Given the description of an element on the screen output the (x, y) to click on. 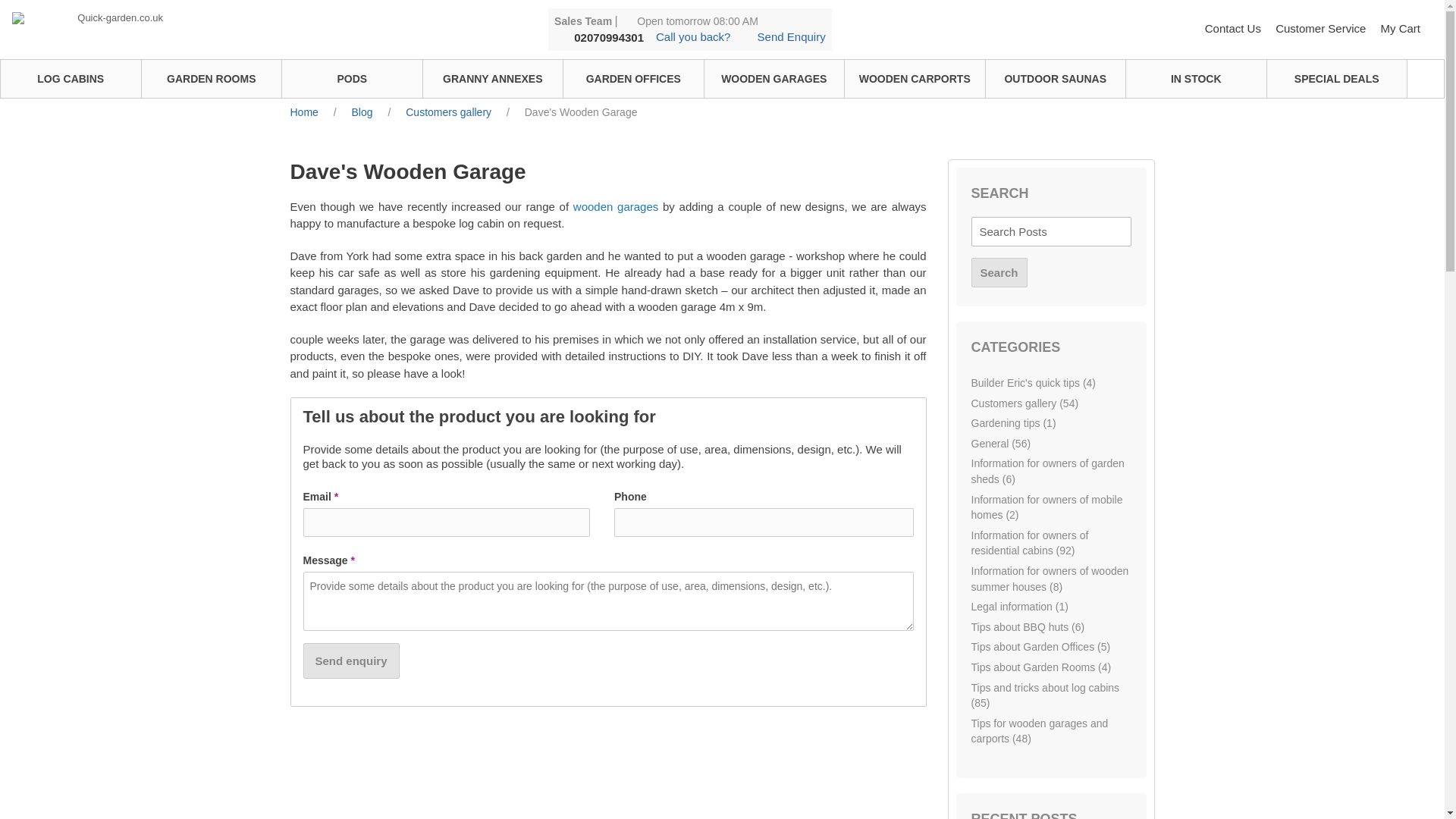
Information for owners of residential cabins (1029, 543)
Information for owners of garden sheds (1047, 471)
Gardening tips (1013, 422)
Customer Service (1321, 28)
WOODEN GARAGES (773, 78)
Tips about Garden Offices (1040, 646)
WOODEN CARPORTS (914, 78)
02070994301 (608, 37)
Tips about Garden Rooms (1040, 666)
Send enquiry (350, 660)
GRANNY ANNEXES (493, 78)
PODS (352, 78)
Search (998, 272)
General (1000, 443)
IN STOCK (1195, 78)
